Given the description of an element on the screen output the (x, y) to click on. 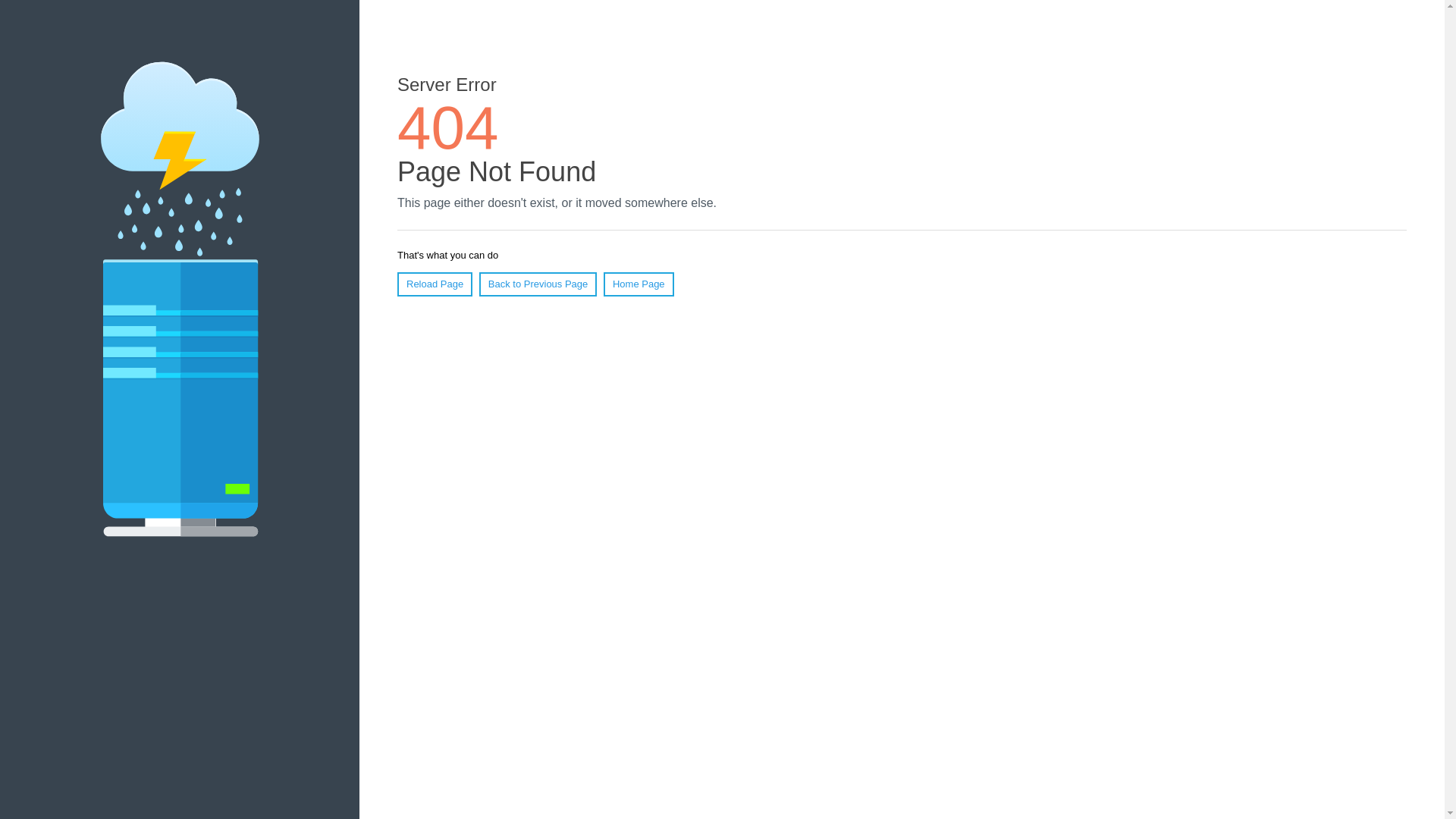
Home Page Element type: text (638, 284)
Back to Previous Page Element type: text (538, 284)
Reload Page Element type: text (434, 284)
